Given the description of an element on the screen output the (x, y) to click on. 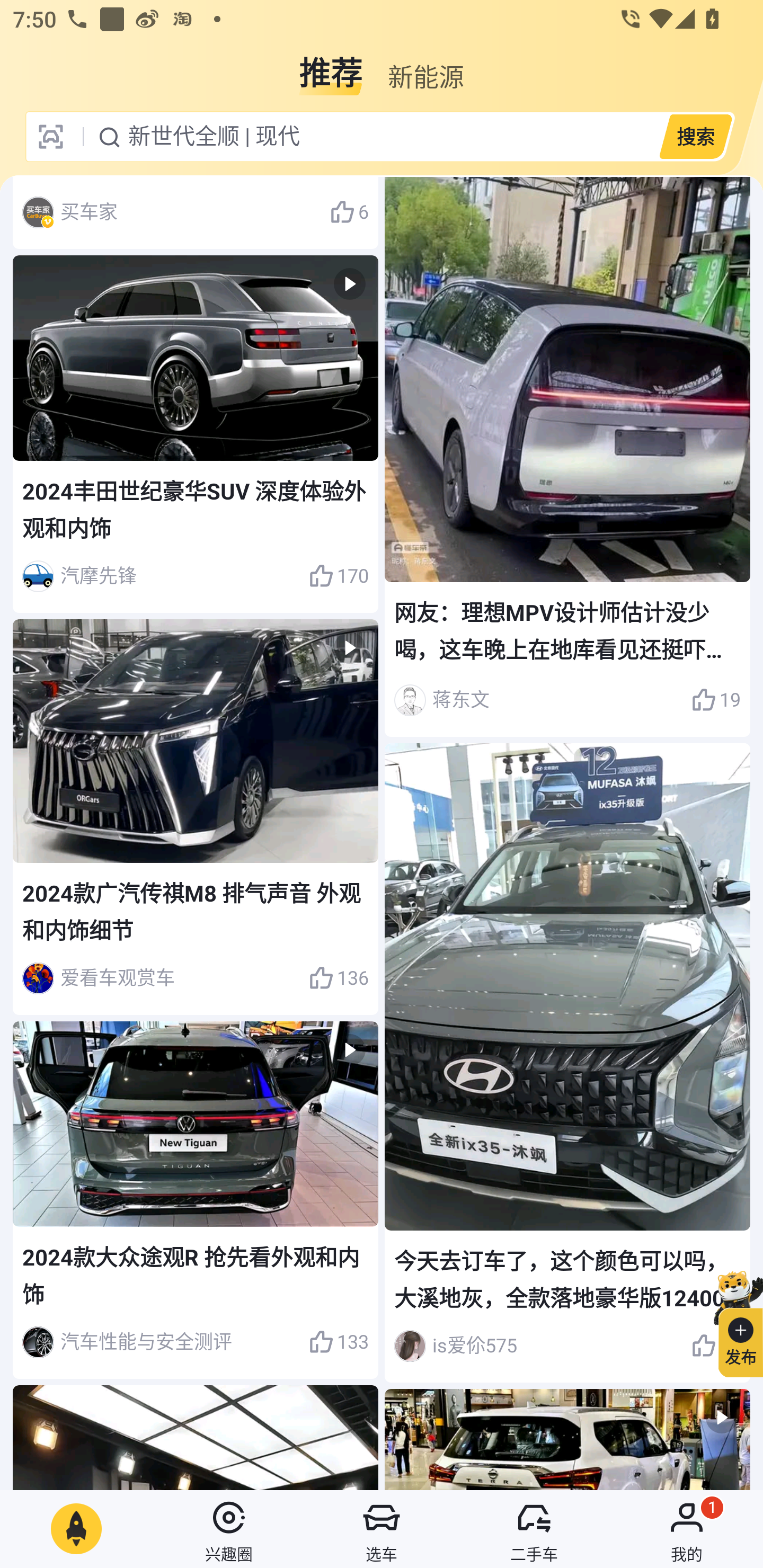
推荐 (330, 65)
新能源 (425, 65)
搜索 (695, 136)
理想MEGA迎来退订潮，到底是哪出了问题？ 买车家 6 (195, 213)
6 (348, 212)
 2024丰田世纪豪华SUV 深度体验外观和内饰 汽摩先锋 170 (195, 434)
170 (338, 575)
 2024款广汽传祺M8 排气声音 外观和内饰细节 爱看车观赏车 136 (195, 816)
19 (715, 699)
今天去订车了，这个颜色可以吗，大溪地灰，全款落地豪华版124000 is爱伱575 30 (567, 1062)
136 (338, 977)
 2024款大众途观R 抢先看外观和内饰 汽车性能与安全测评 133 (195, 1199)
发布 (732, 1321)
133 (338, 1341)
30 (715, 1345)
 兴趣圈 (228, 1528)
 选车 (381, 1528)
 二手车 (533, 1528)
 我的 (686, 1528)
